Given the description of an element on the screen output the (x, y) to click on. 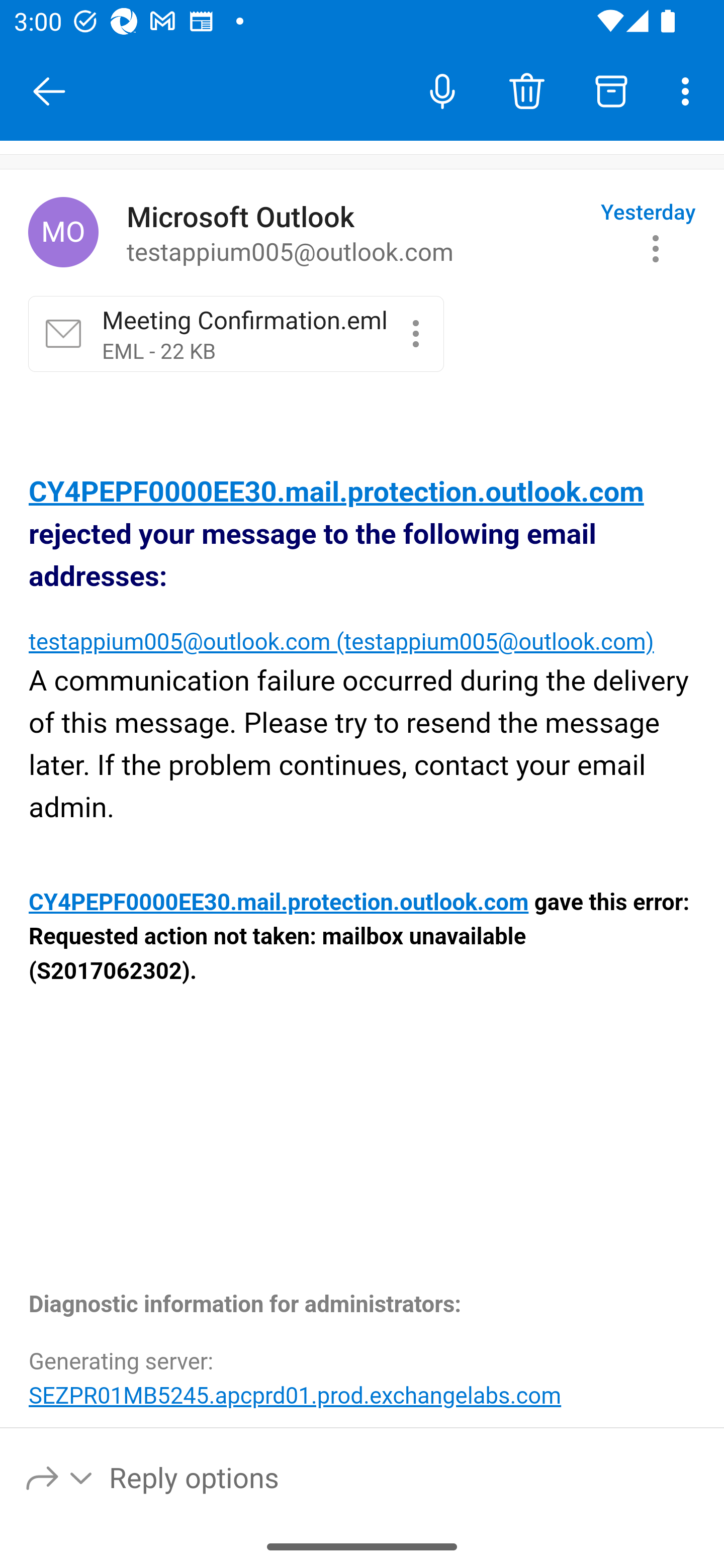
Close (49, 91)
Delete (526, 90)
Archive (611, 90)
More options (688, 90)
Microsoft Outlook
to testappium005@outlook.com (356, 232)
Message actions (655, 248)
Meeting Confirmation.eml (415, 333)
Reply options (59, 1476)
